Given the description of an element on the screen output the (x, y) to click on. 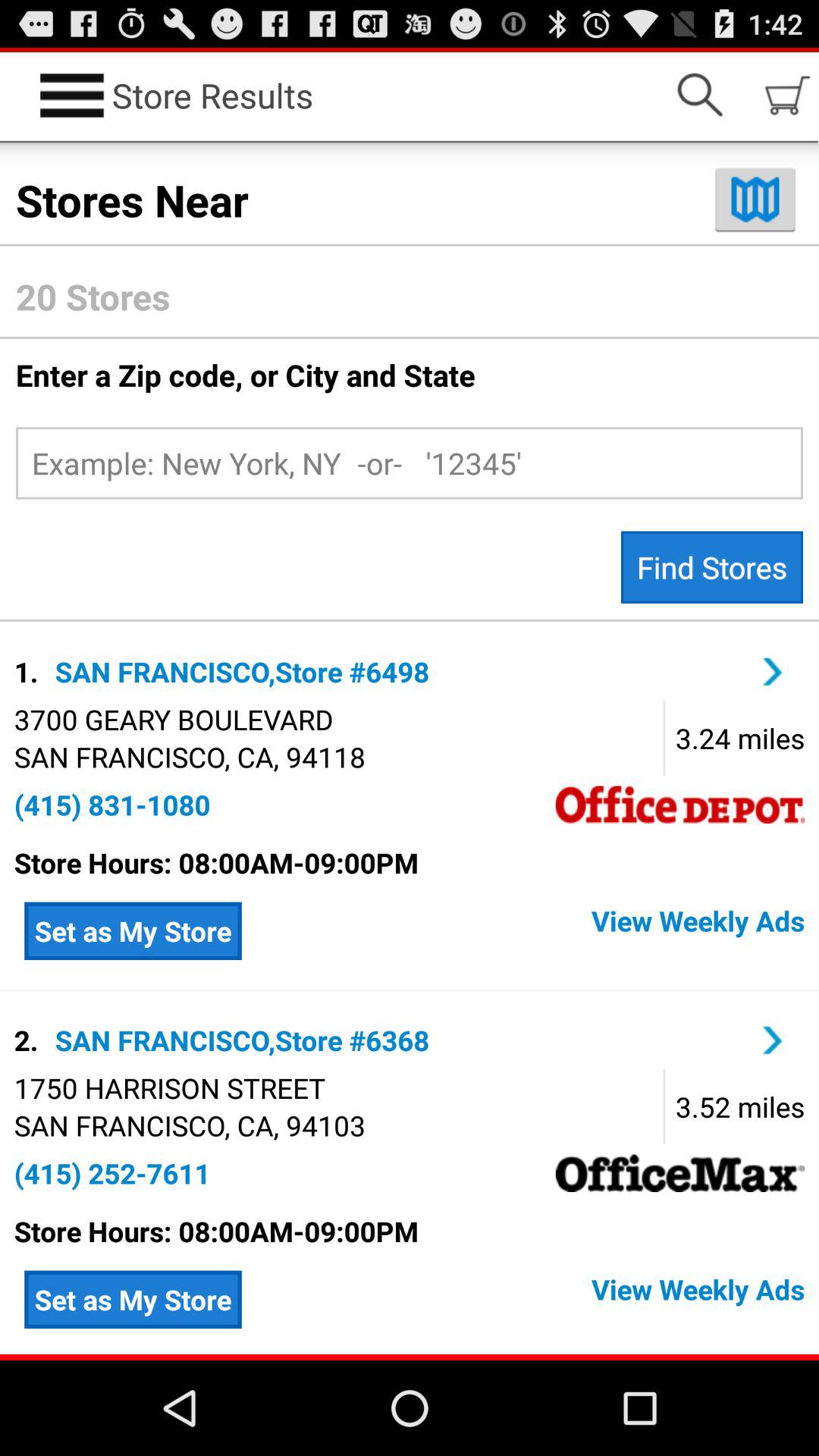
launch app below 2.  icon (169, 1087)
